Given the description of an element on the screen output the (x, y) to click on. 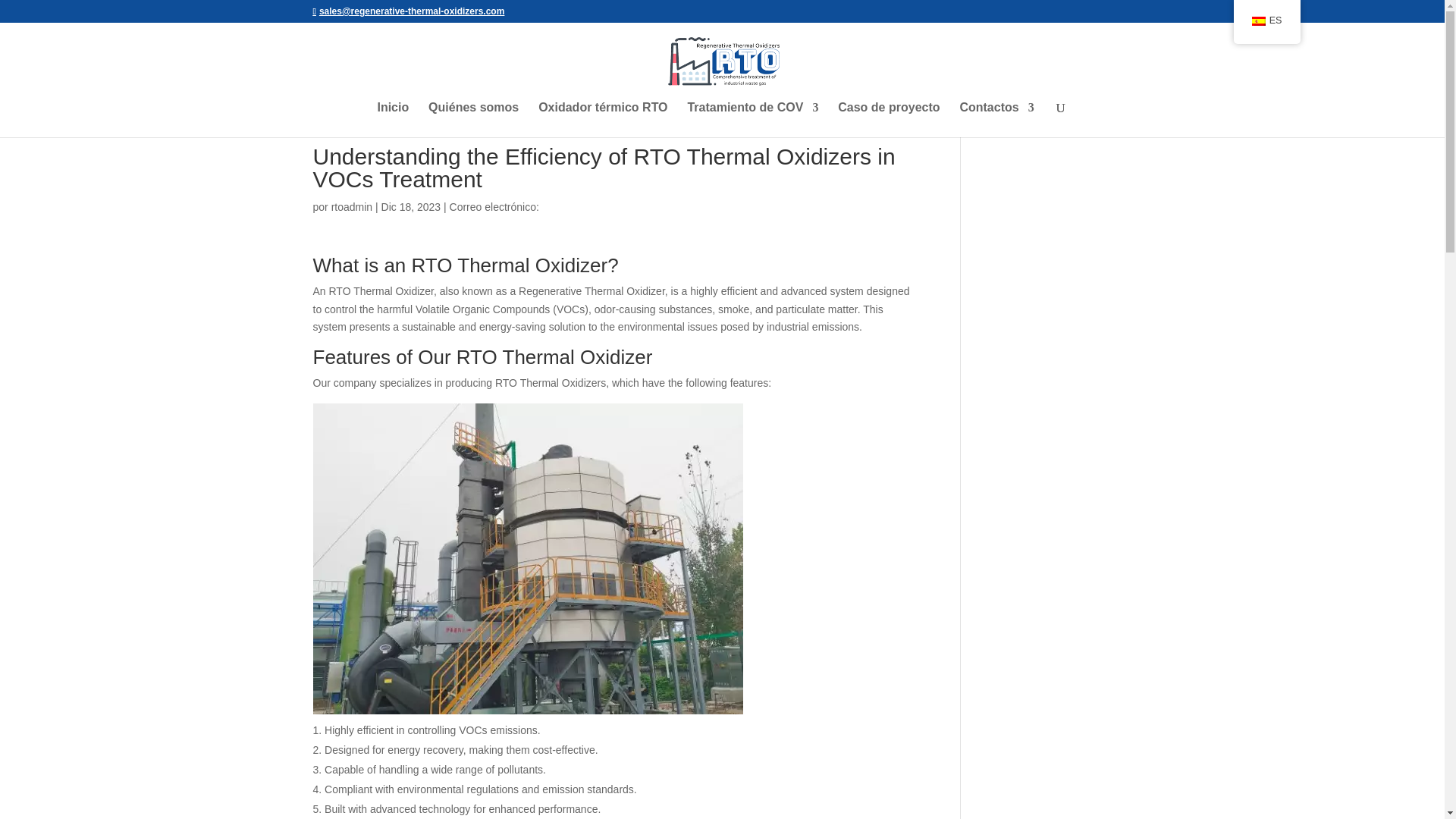
Mensajes de rtoadmin (351, 206)
Caso de proyecto (888, 119)
Tratamiento de COV (752, 119)
ES (1266, 20)
Contactos (996, 119)
Inicio (393, 119)
Spanish (1258, 20)
rtoadmin (351, 206)
